Given the description of an element on the screen output the (x, y) to click on. 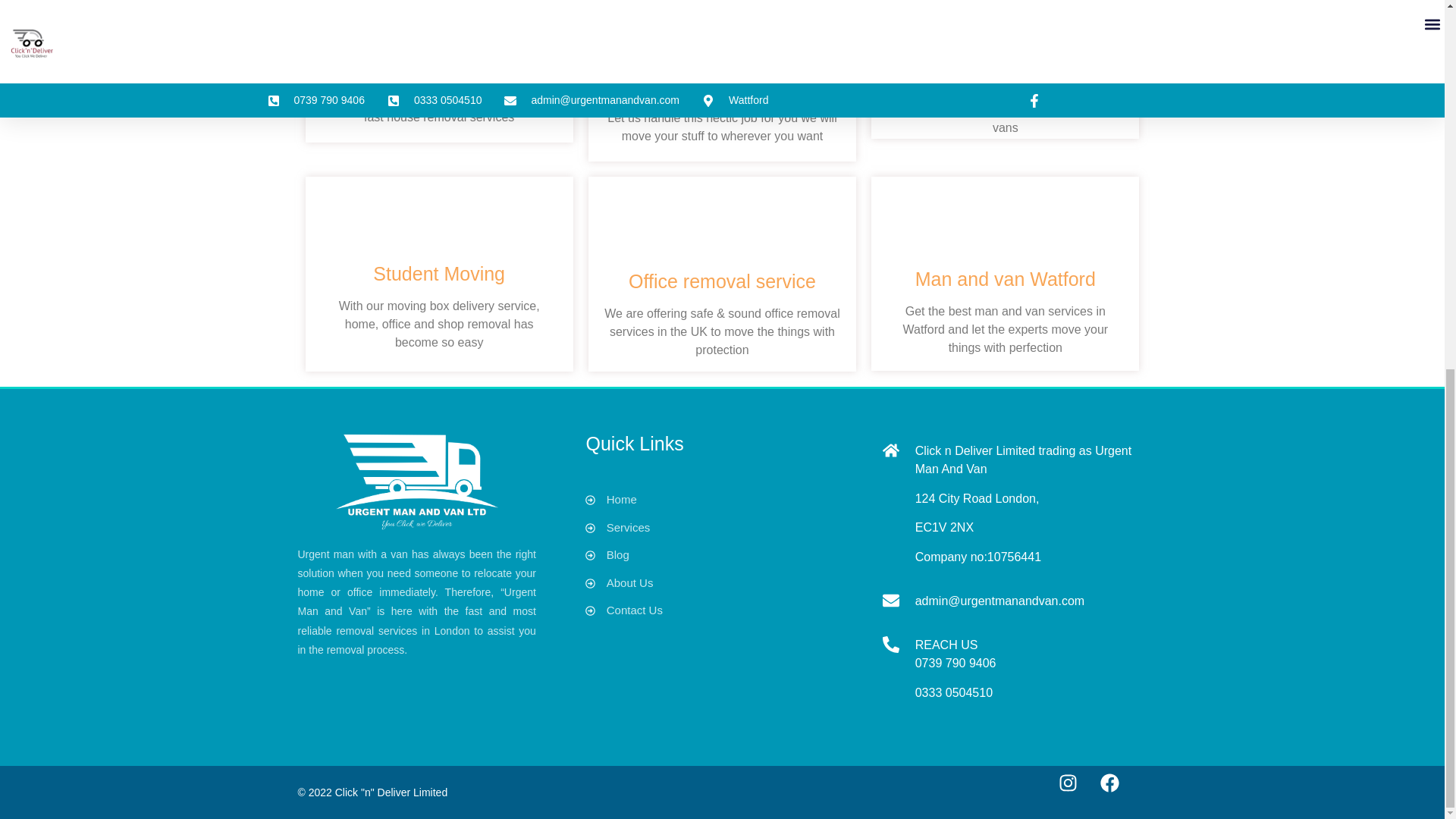
Office removal service (721, 281)
House removal services (438, 66)
Man and van service (1005, 58)
Long distance man and van hire (721, 74)
Student Moving (438, 273)
